Given the description of an element on the screen output the (x, y) to click on. 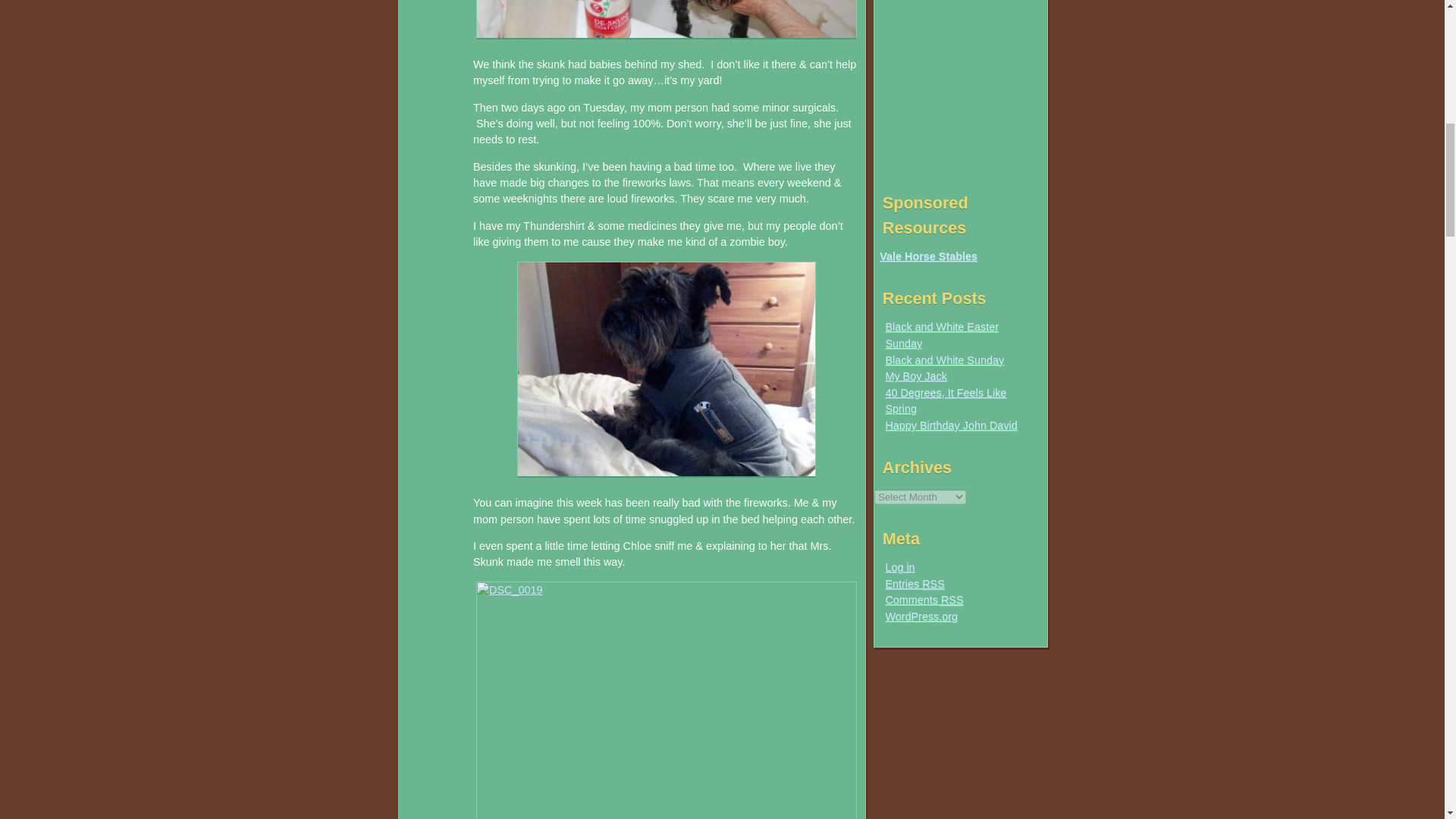
Really Simple Syndication (951, 599)
Really Simple Syndication (932, 584)
